Given the description of an element on the screen output the (x, y) to click on. 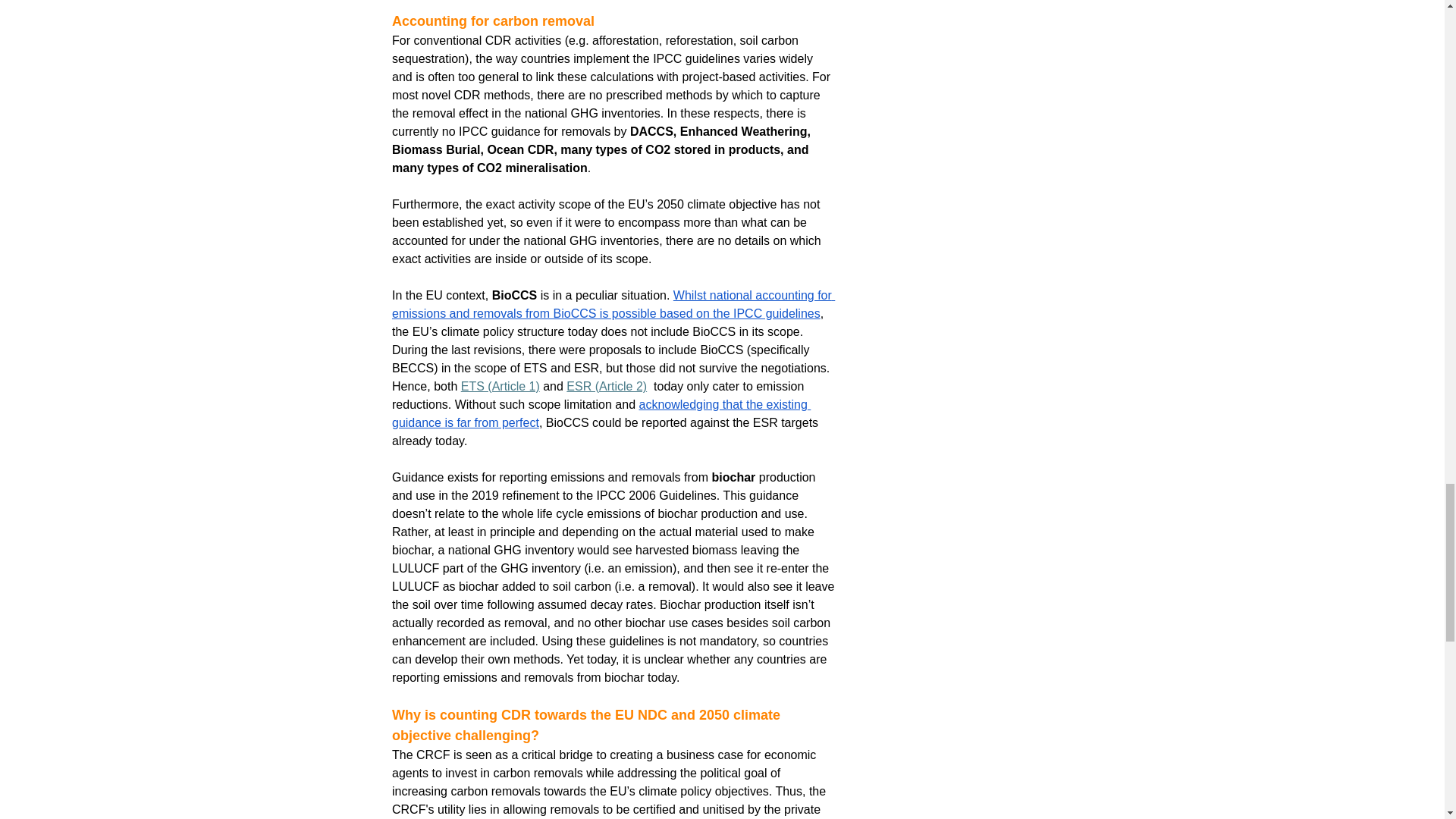
acknowledging that the existing guidance is far from perfect (600, 413)
